Given the description of an element on the screen output the (x, y) to click on. 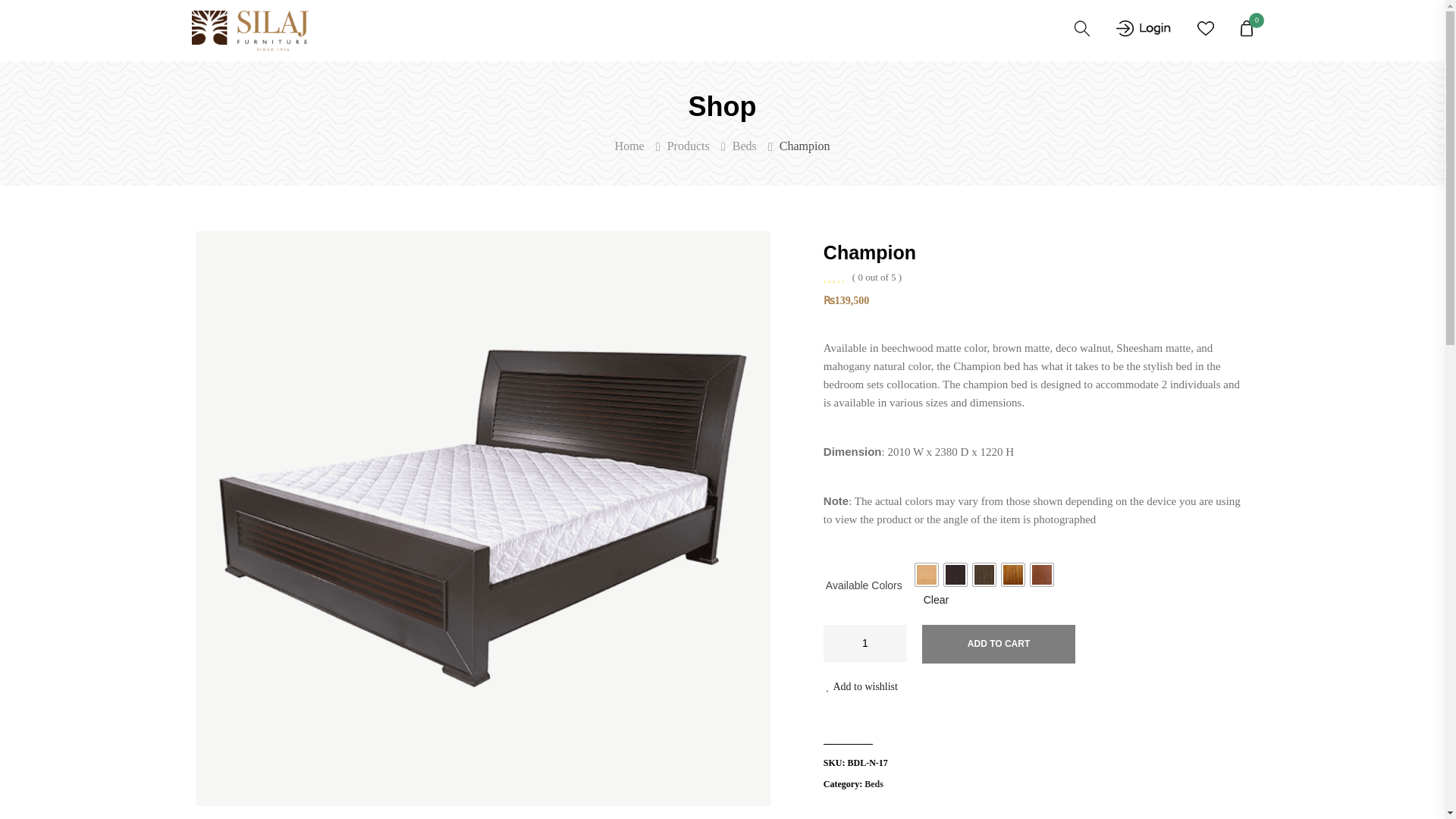
Clear (936, 599)
Categories (557, 30)
Contact Us (886, 30)
Categories (557, 30)
Custom Order (740, 30)
Products (688, 145)
Brown Matt (954, 574)
About (817, 30)
About (817, 30)
1 (865, 642)
